Given the description of an element on the screen output the (x, y) to click on. 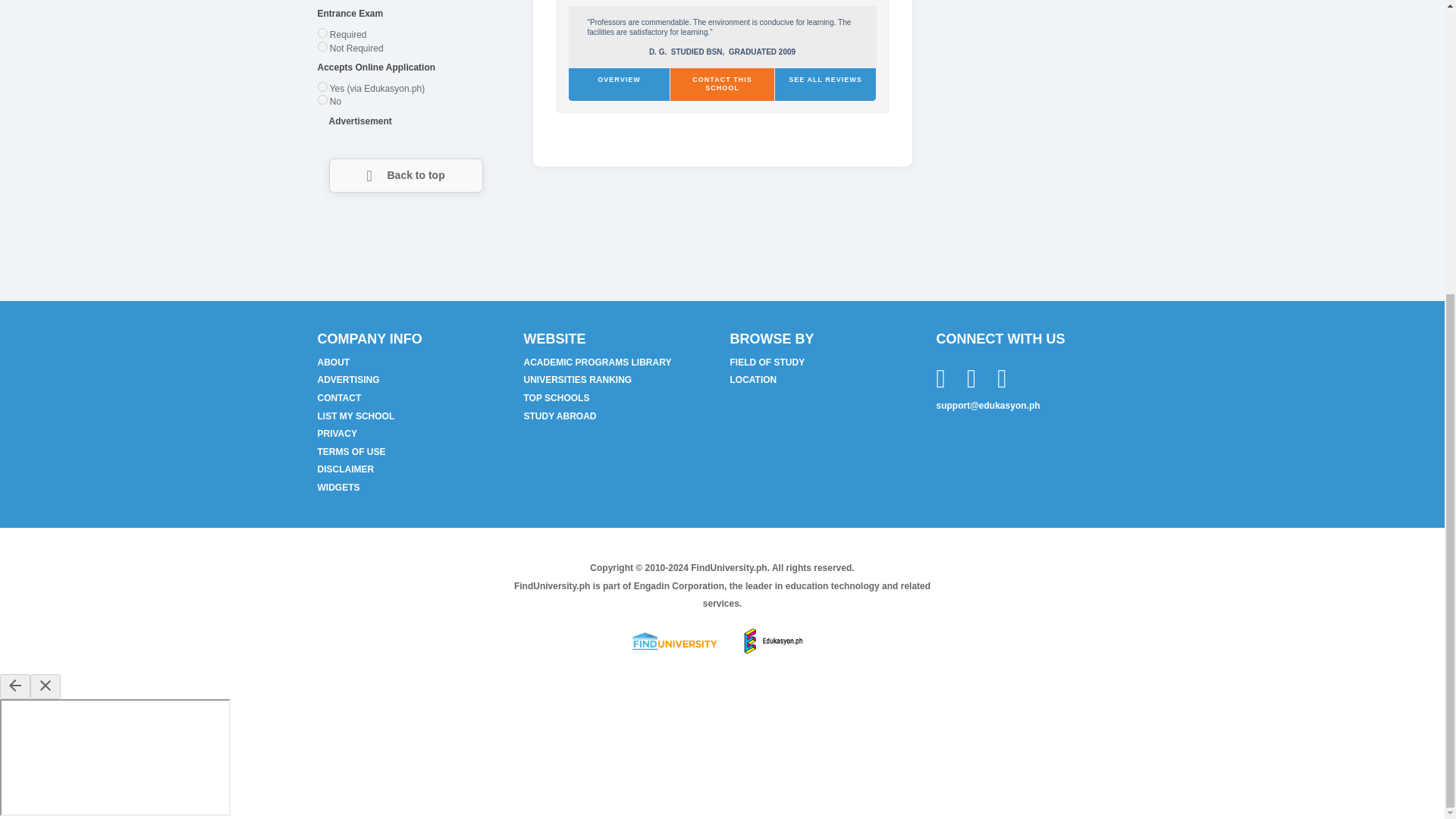
CONTACT THIS SCHOOL (721, 83)
Does not accept online application (335, 101)
No (335, 101)
OVERVIEW (619, 83)
ABOUT (333, 363)
Entrance exam is required (348, 34)
on (321, 99)
Not Required (357, 47)
Required (348, 34)
Accepts online application via Edukasyon.ph (377, 88)
